Given the description of an element on the screen output the (x, y) to click on. 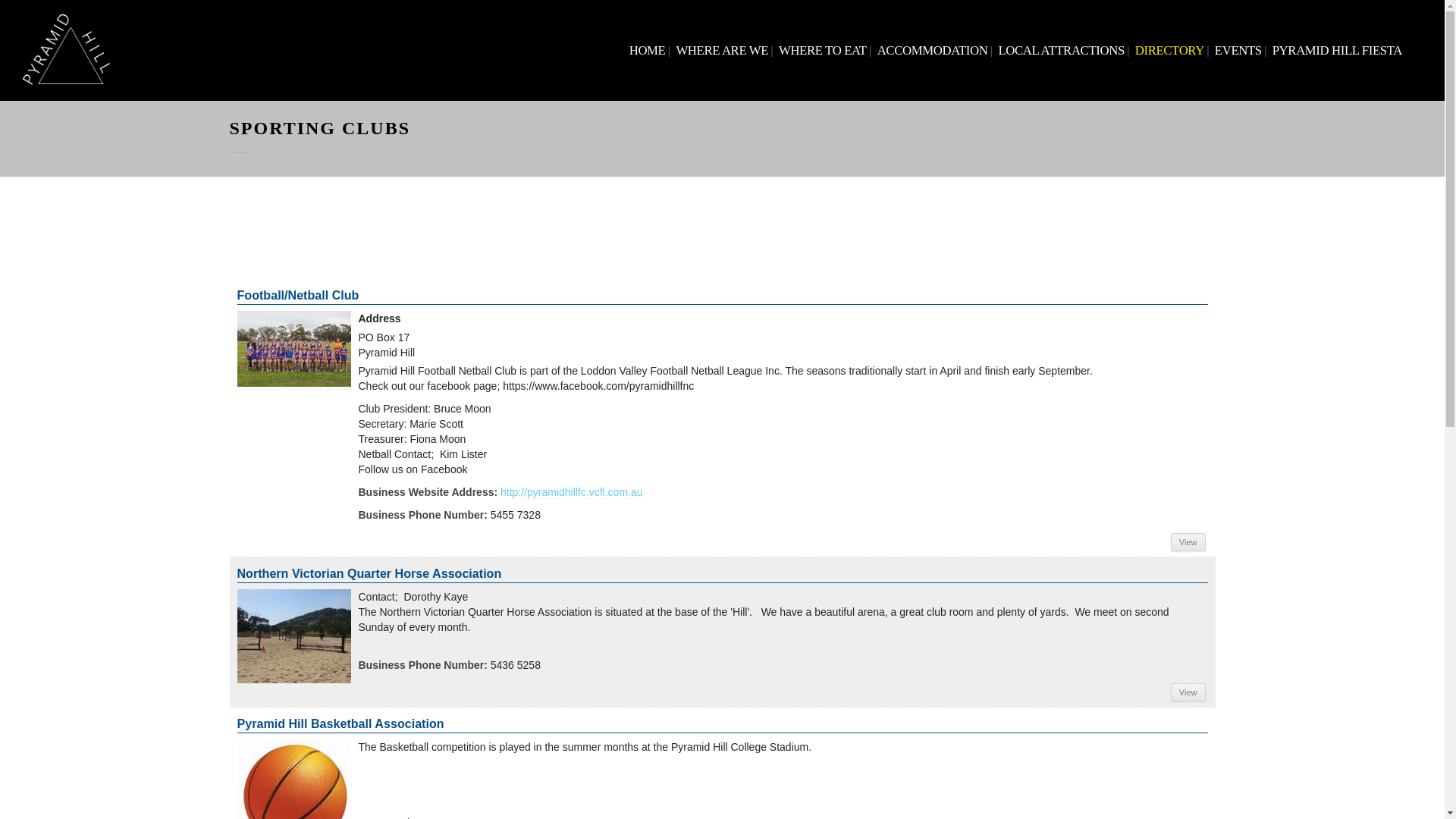
PYRAMID HILL FIESTA Element type: text (1336, 50)
WHERE TO EAT Element type: text (822, 50)
Football/Netball Club Element type: hover (293, 348)
View Element type: text (1187, 692)
HOME Element type: text (647, 50)
DIRECTORY Element type: text (1169, 50)
Northern Victorian Quarter Horse Association Element type: hover (293, 636)
Pyramid Hill Basketball Association Element type: text (339, 723)
http://pyramidhillfc.vcfl.com.au Element type: text (571, 492)
LOCAL ATTRACTIONS Element type: text (1060, 50)
ACCOMMODATION Element type: text (932, 50)
View Element type: text (1187, 542)
WHERE ARE WE Element type: text (721, 50)
EVENTS Element type: text (1238, 50)
Northern Victorian Quarter Horse Association Element type: text (368, 573)
Football/Netball Club Element type: text (297, 295)
